Given the description of an element on the screen output the (x, y) to click on. 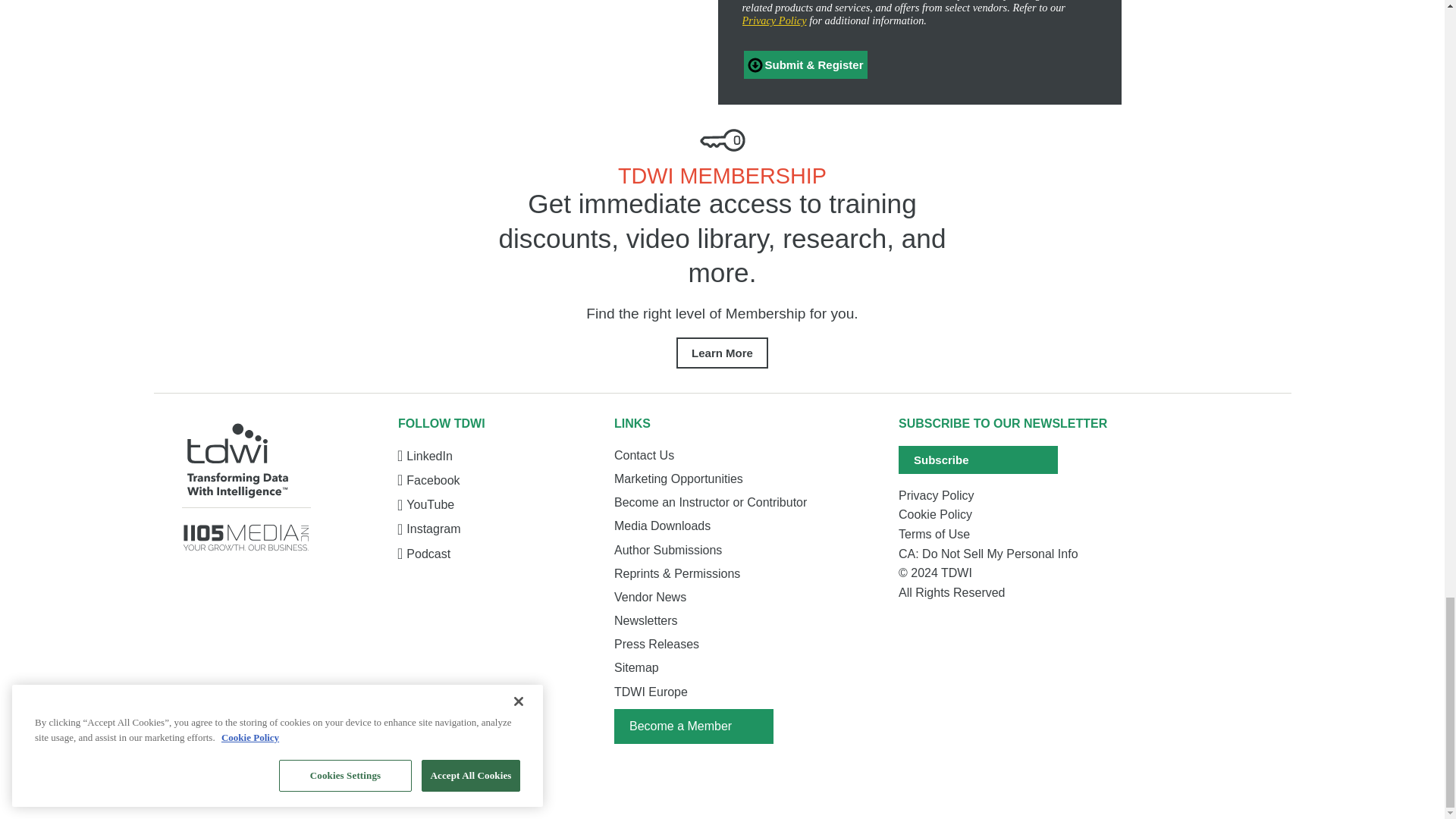
Privacy Policy (1011, 496)
Terms of Use (1011, 534)
Cookie Policy (1011, 514)
